Given the description of an element on the screen output the (x, y) to click on. 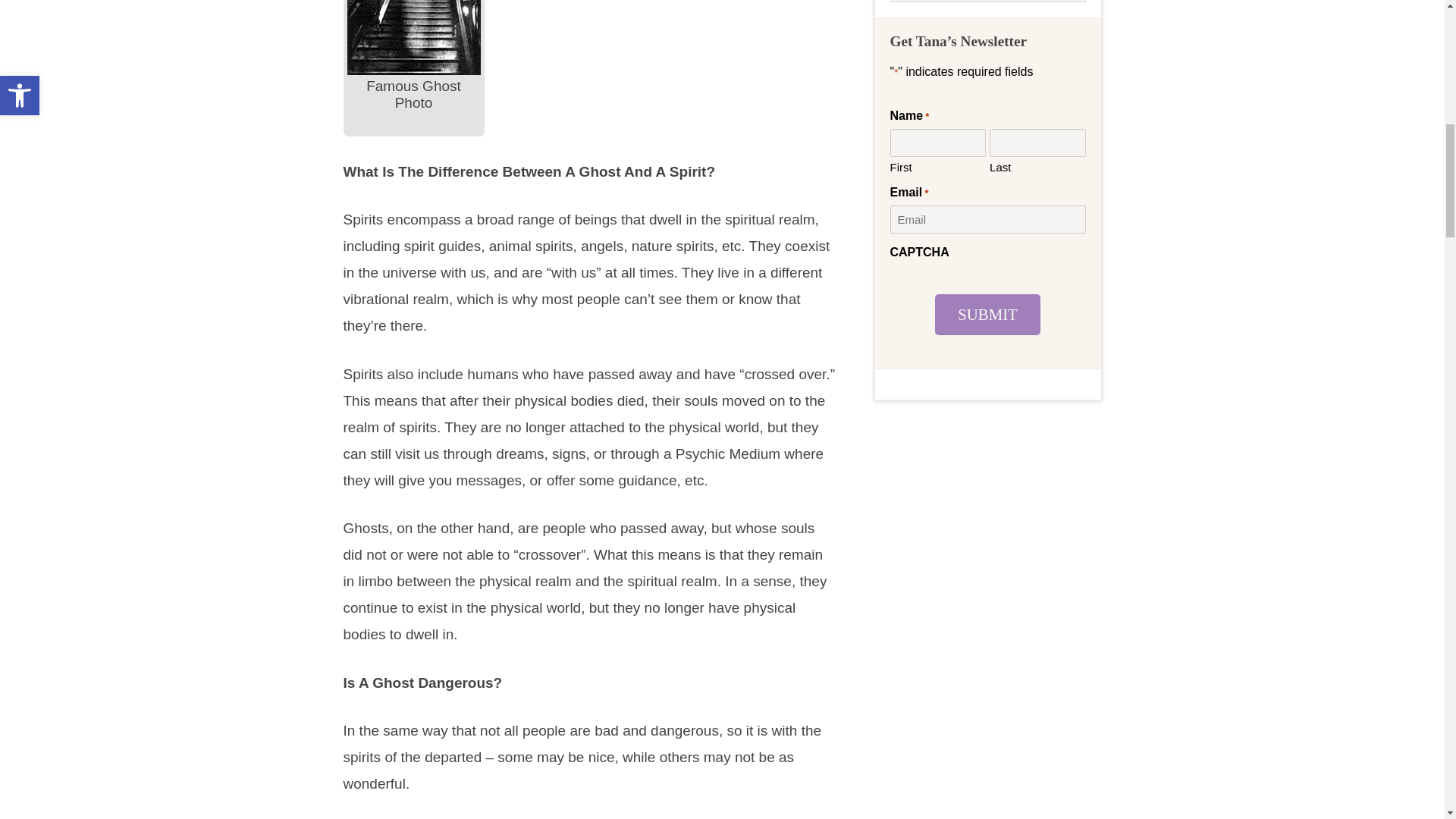
Submit (987, 314)
Submit (987, 314)
